Given the description of an element on the screen output the (x, y) to click on. 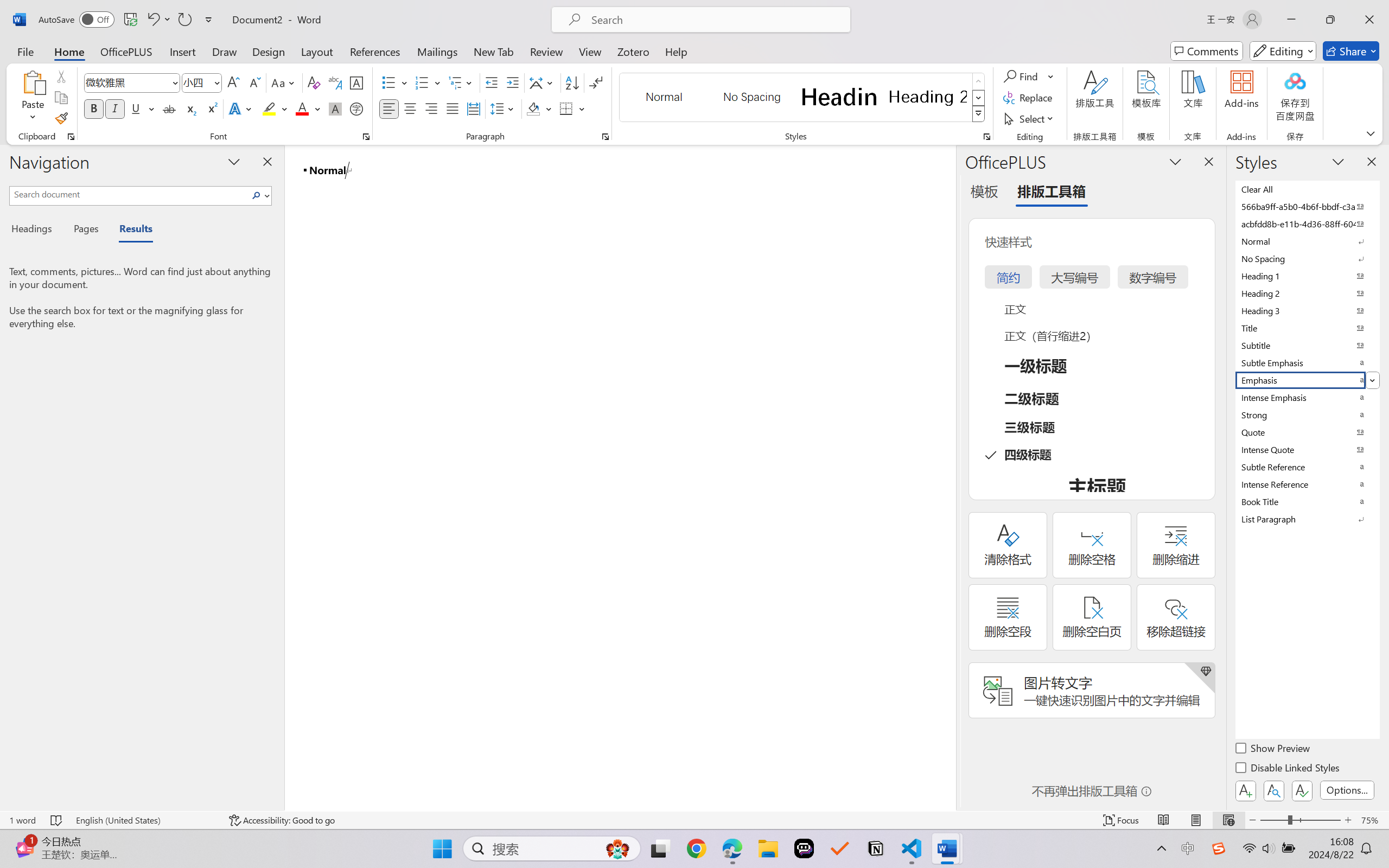
Class: Image (1218, 847)
Review (546, 51)
Line and Paragraph Spacing (503, 108)
Mode (1283, 50)
Font... (365, 136)
Class: NetUIButton (1301, 790)
Enclose Characters... (356, 108)
Focus  (1121, 819)
Mailings (437, 51)
Paste (33, 97)
Select (1030, 118)
Show/Hide Editing Marks (595, 82)
Heading 3 (1306, 310)
